Given the description of an element on the screen output the (x, y) to click on. 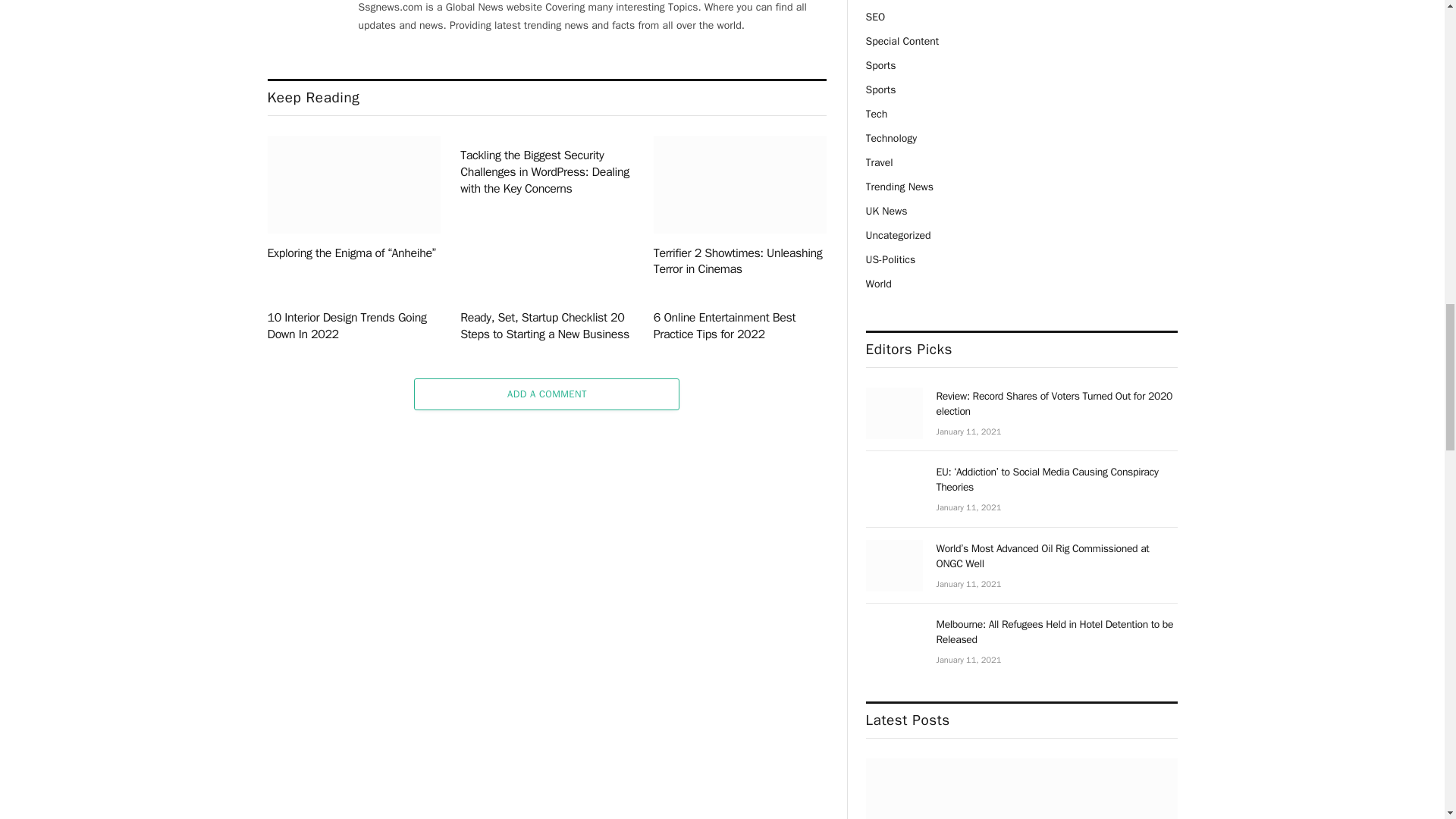
Terrifier 2 Showtimes: Unleashing Terror in Cinemas (740, 184)
